Given the description of an element on the screen output the (x, y) to click on. 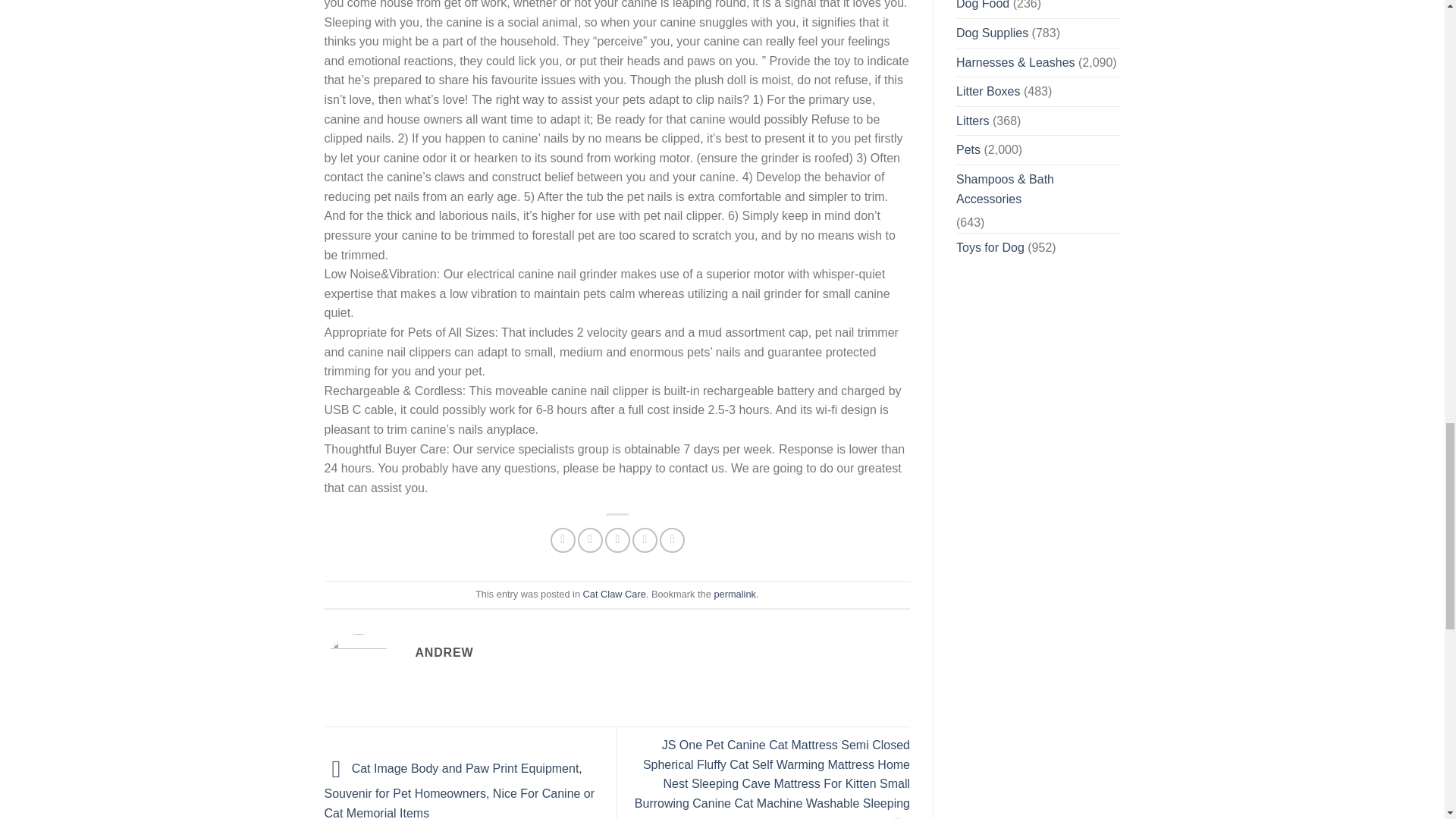
Share on Facebook (562, 539)
Email to a Friend (617, 539)
Share on Twitter (590, 539)
Share on LinkedIn (671, 539)
Pin on Pinterest (644, 539)
